Given the description of an element on the screen output the (x, y) to click on. 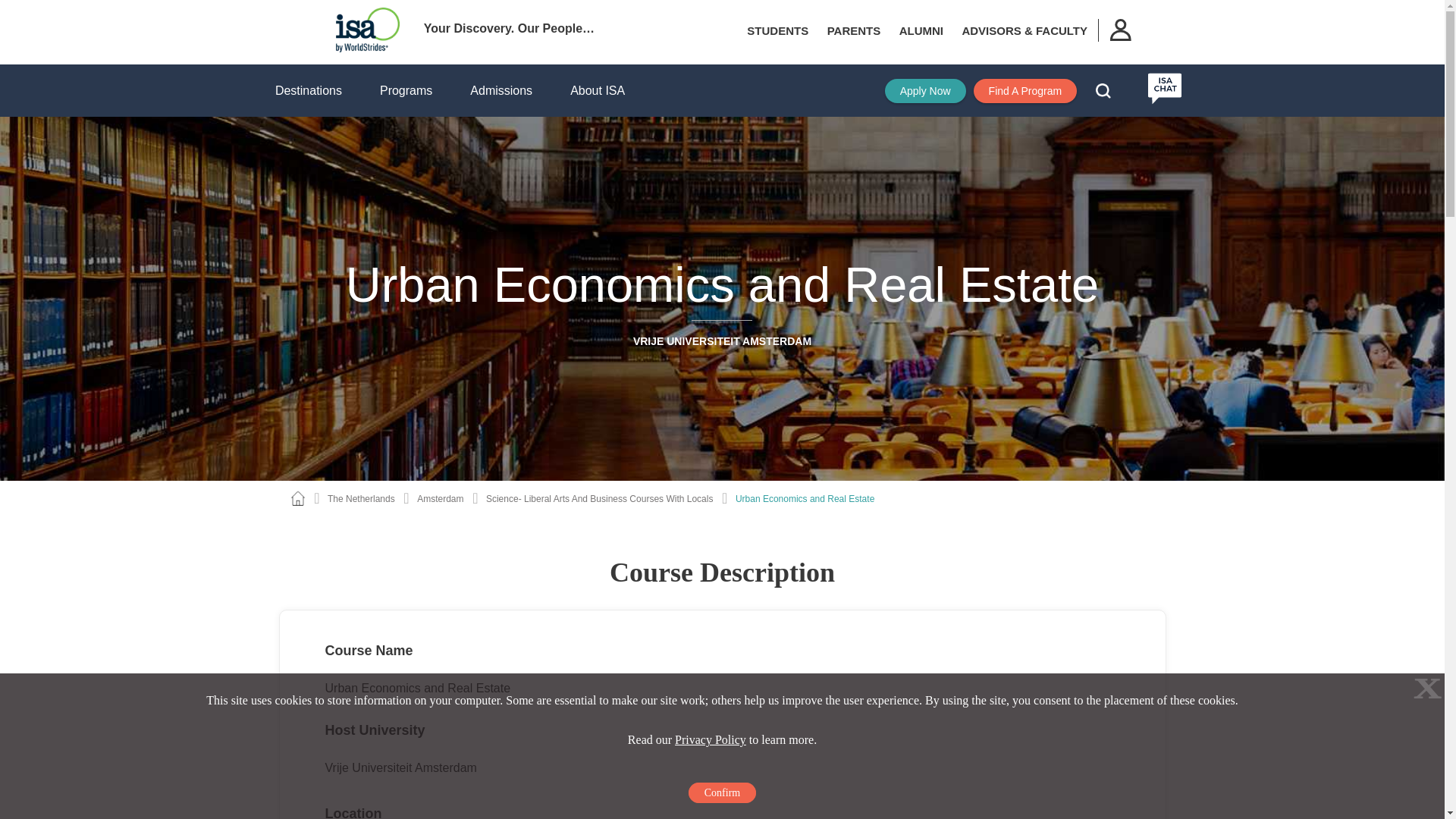
Alumni (920, 30)
ISA Header Logo (366, 29)
STUDENTS (777, 30)
PARENTS (853, 30)
Students (777, 30)
Parents (853, 30)
ALUMNI (920, 30)
